Given the description of an element on the screen output the (x, y) to click on. 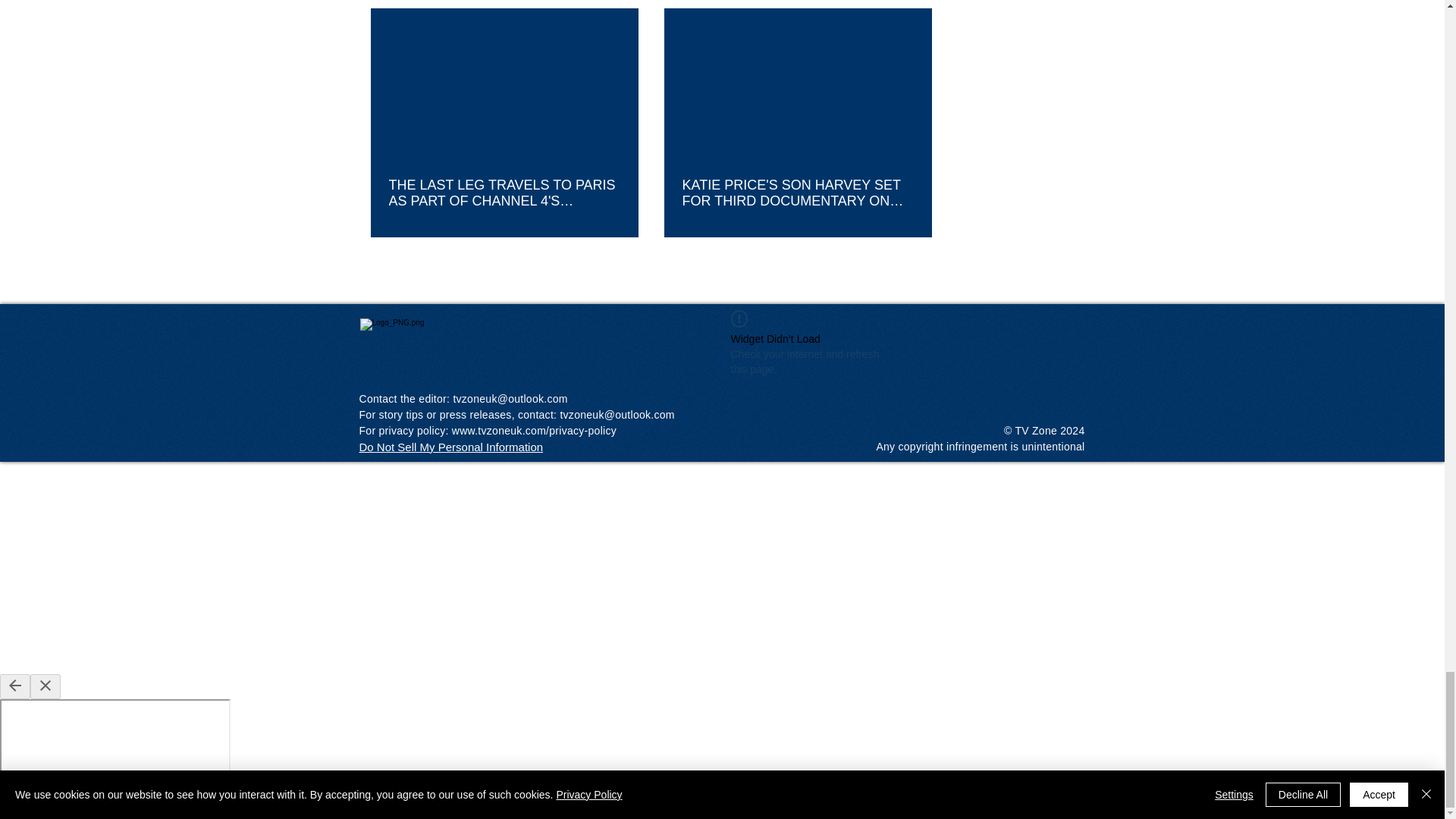
KATIE PRICE'S SON HARVEY SET FOR THIRD DOCUMENTARY ON BBC (798, 193)
